Given the description of an element on the screen output the (x, y) to click on. 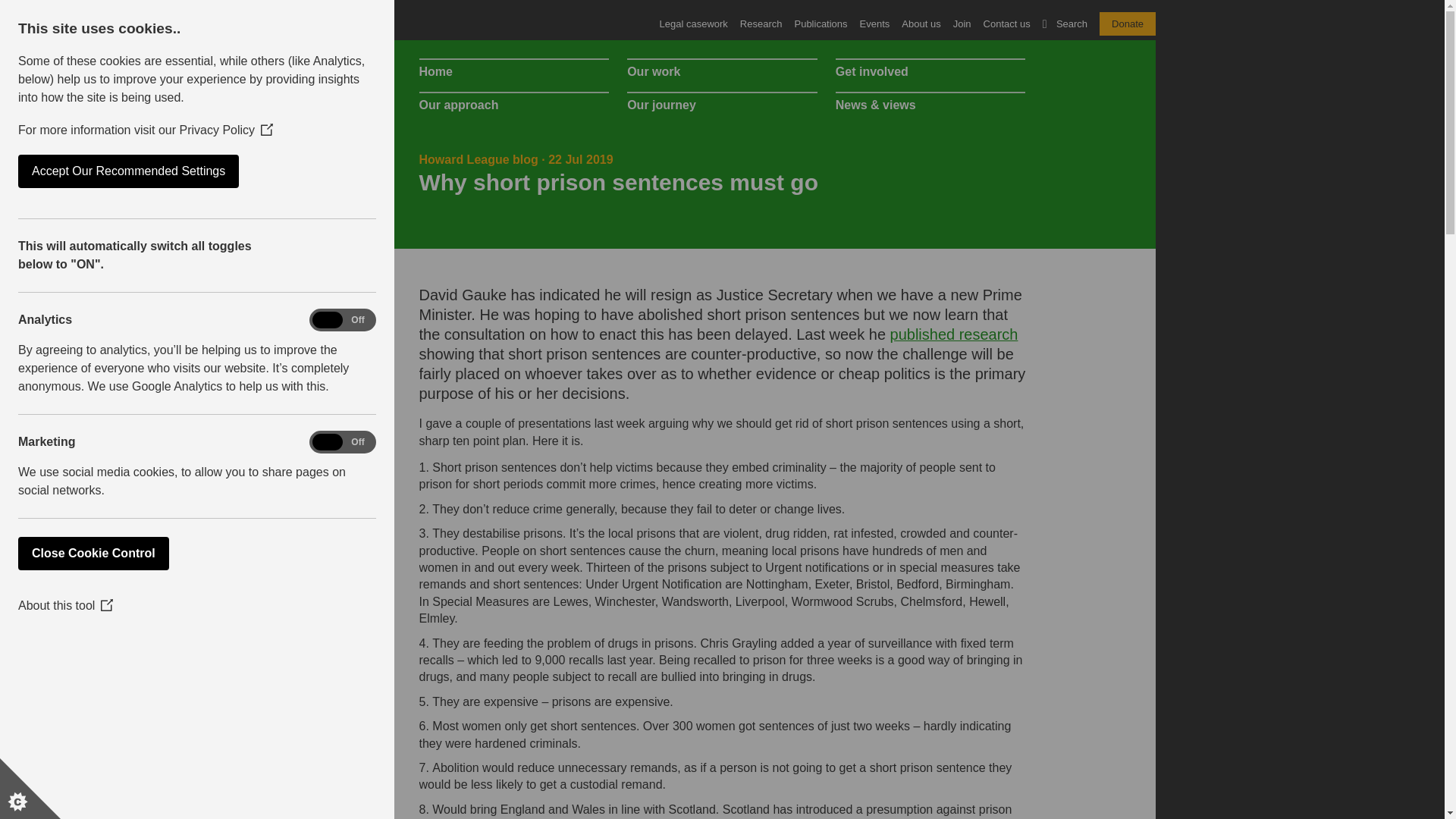
Our work (721, 71)
Get involved (930, 71)
Our approach (513, 104)
Join (962, 24)
Search (844, 170)
Events (874, 24)
published research (953, 334)
Publications (820, 24)
Donate (1127, 24)
Home (513, 71)
About us (920, 24)
Research (761, 24)
Contact us (1007, 24)
Legal casework (693, 24)
Howard League blog (478, 159)
